Given the description of an element on the screen output the (x, y) to click on. 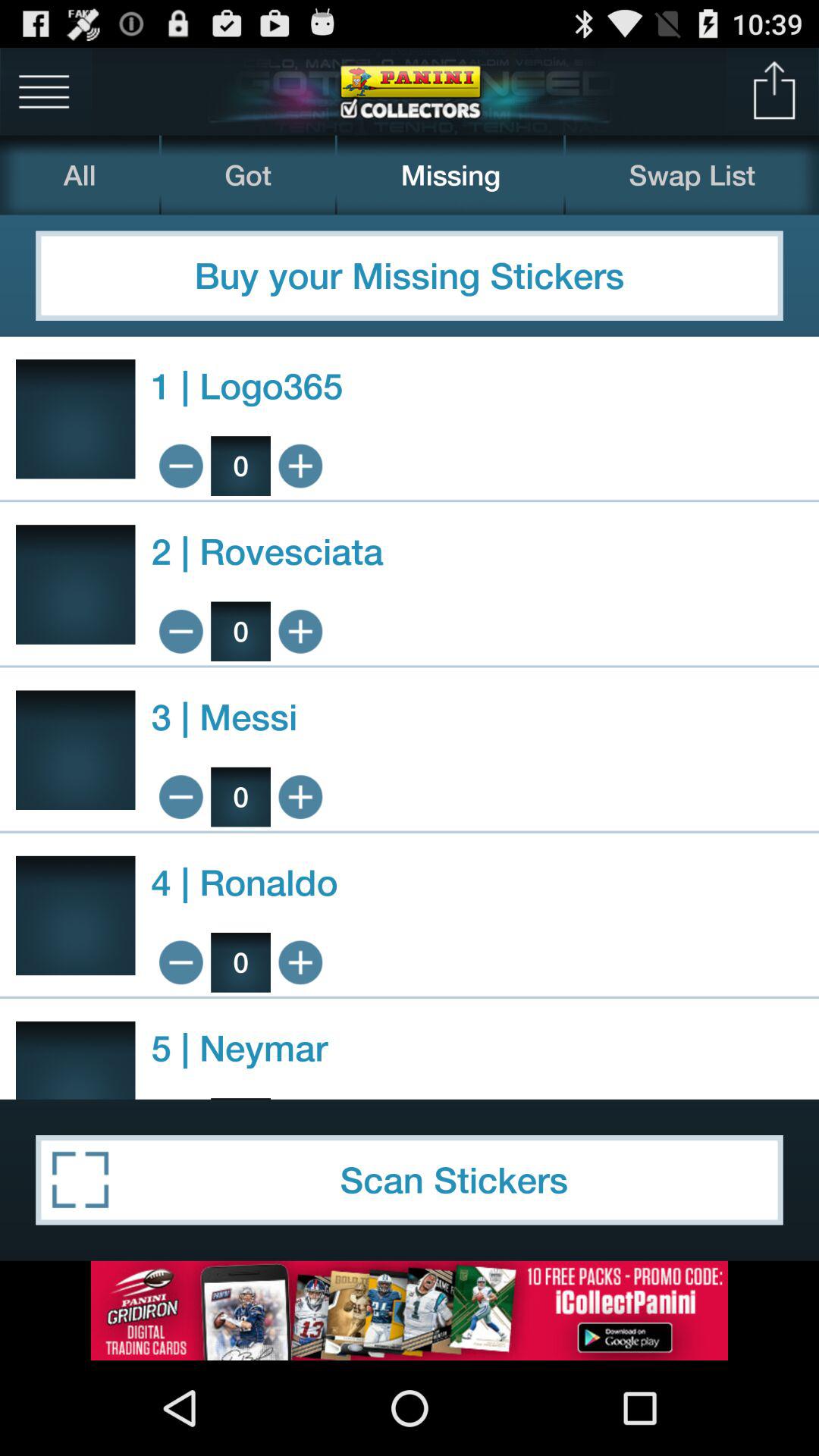
increment down (181, 962)
